Given the description of an element on the screen output the (x, y) to click on. 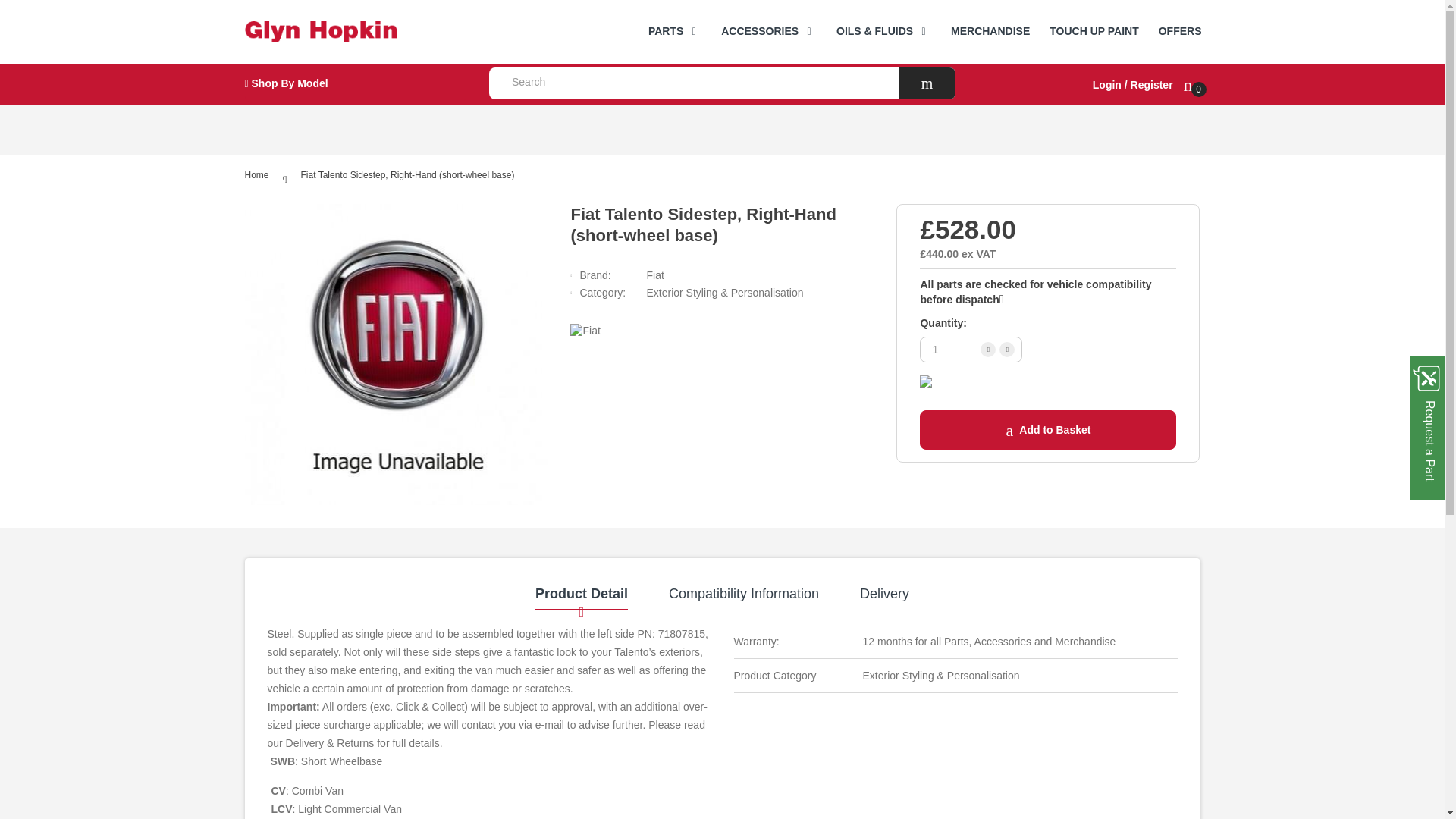
Increase (987, 349)
Glyn Hopkin Shop (354, 31)
Decrease (1006, 349)
1 (971, 349)
